Given the description of an element on the screen output the (x, y) to click on. 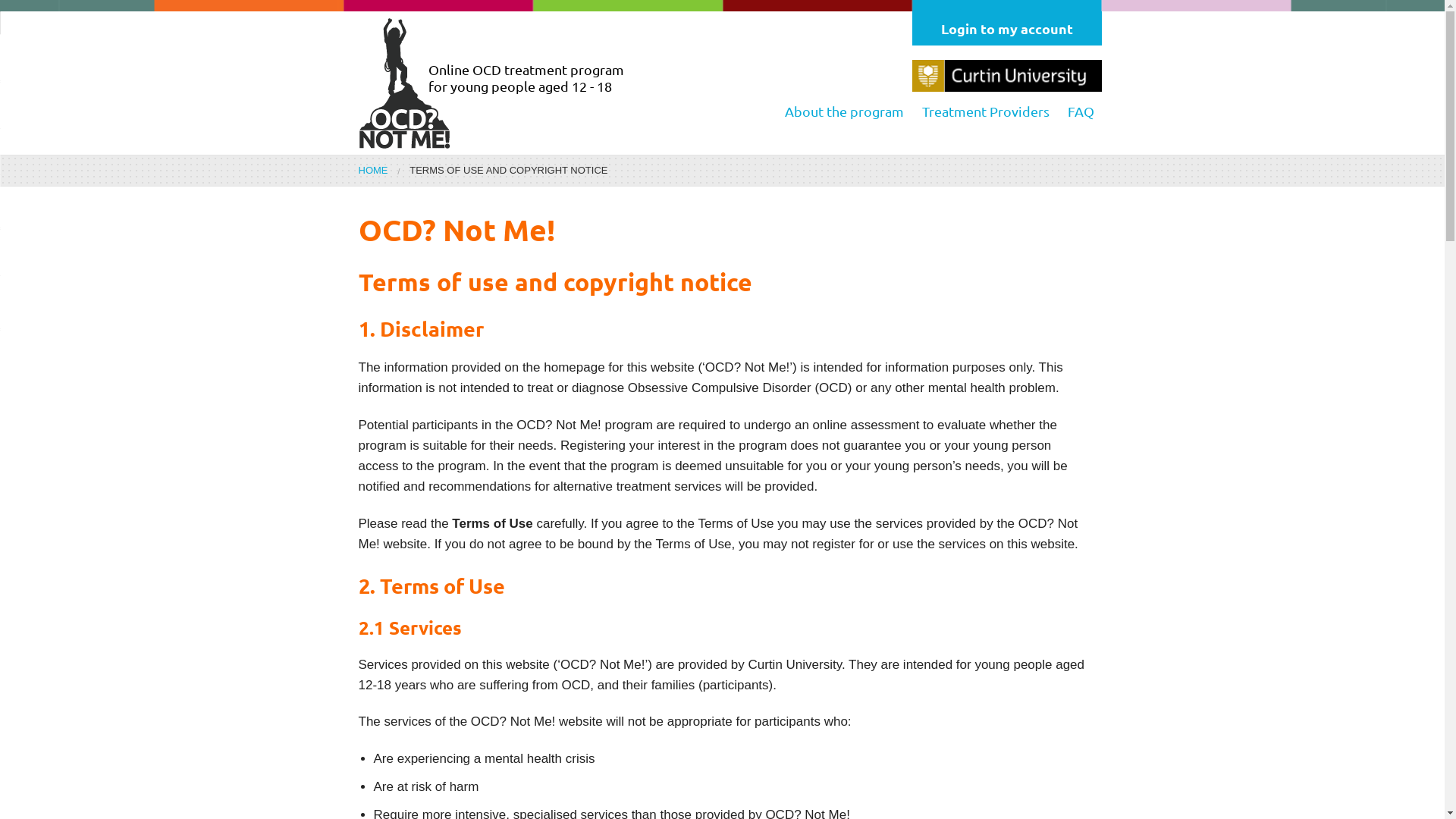
Treatment Providers Element type: text (985, 111)
TERMS OF USE AND COPYRIGHT NOTICE Element type: text (508, 169)
FAQ Element type: text (1080, 111)
About the program Element type: text (843, 111)
HOME Element type: text (372, 169)
Login to my account Element type: text (1006, 28)
